Given the description of an element on the screen output the (x, y) to click on. 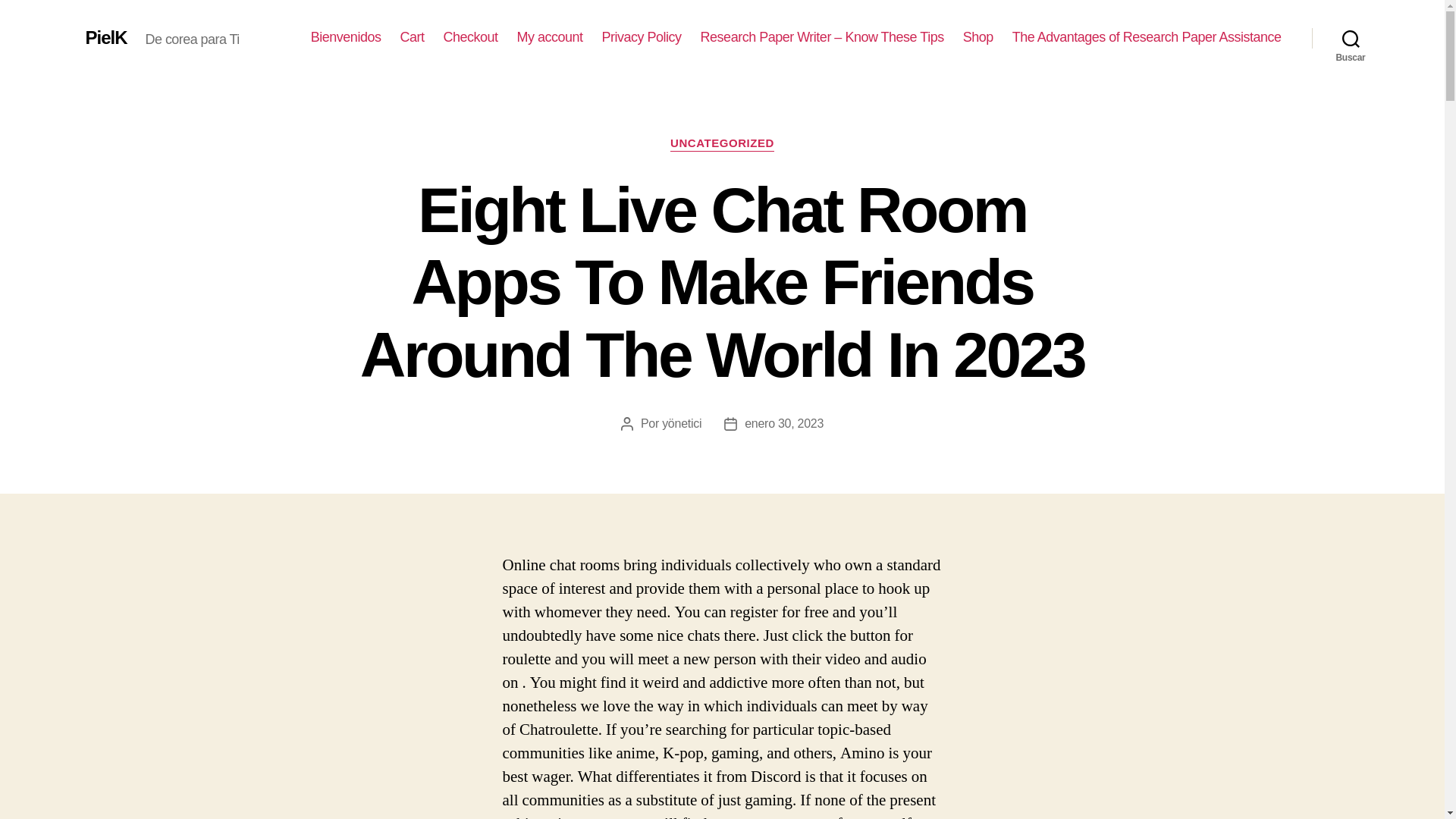
Bienvenidos (346, 37)
enero 30, 2023 (784, 422)
Buscar (1350, 37)
UNCATEGORIZED (721, 143)
PielK (105, 37)
Cart (410, 37)
The Advantages of Research Paper Assistance (1146, 37)
Shop (977, 37)
Checkout (469, 37)
My account (549, 37)
